Given the description of an element on the screen output the (x, y) to click on. 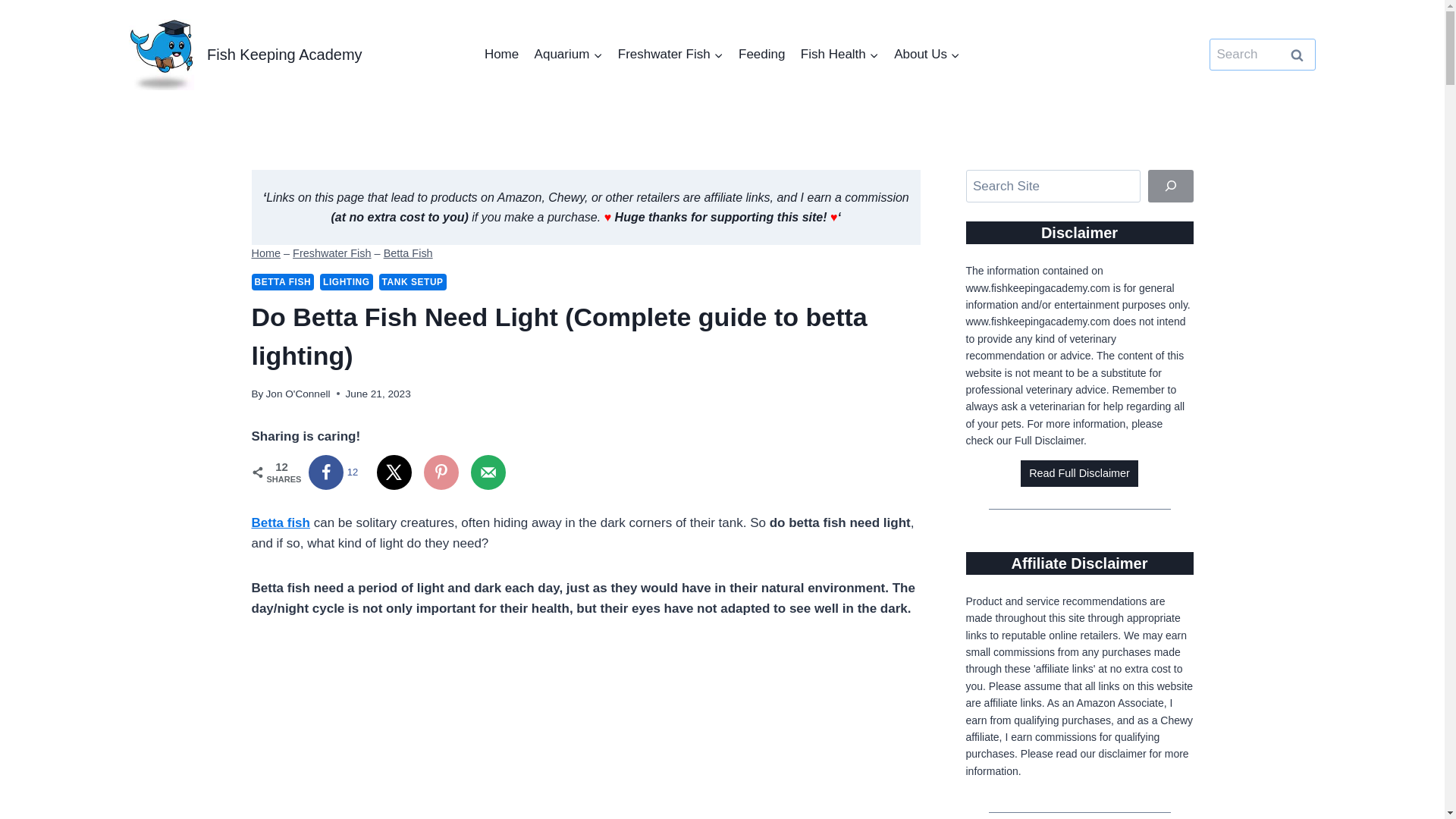
Fish Health (839, 53)
Home (266, 253)
Aquarium (567, 53)
Home (502, 53)
Send over email (487, 472)
Freshwater Fish (670, 53)
Fish Keeping Academy (245, 53)
Freshwater Fish (331, 253)
Betta Fish (408, 253)
Save to Pinterest (440, 472)
Search (1297, 54)
Search (1297, 54)
Share on X (394, 472)
About Us (927, 53)
Search (1297, 54)
